Given the description of an element on the screen output the (x, y) to click on. 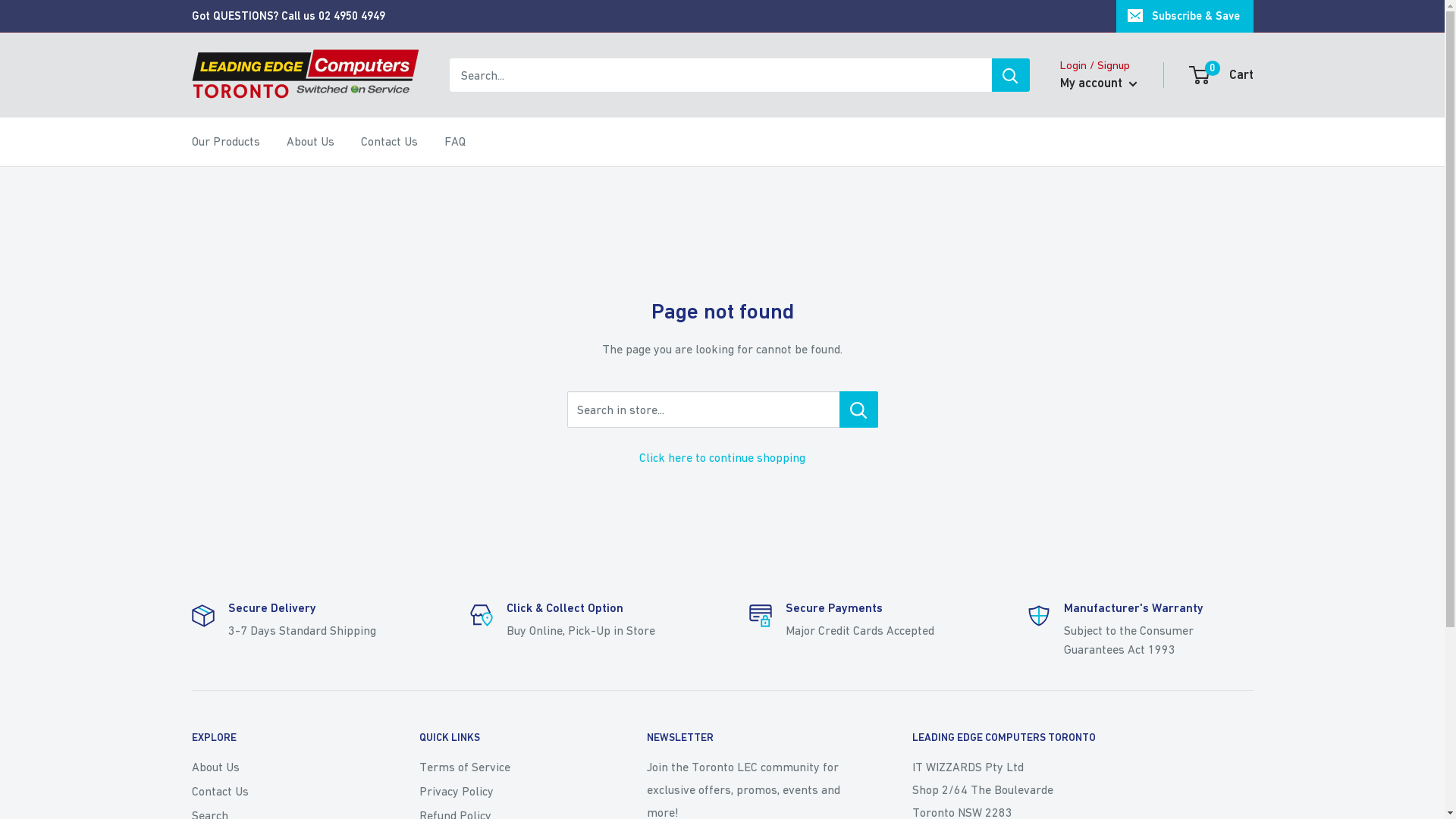
FAQ Element type: text (454, 141)
Contact Us Element type: text (388, 141)
About Us Element type: text (278, 766)
0
Cart Element type: text (1221, 74)
QUICK LINKS Element type: text (505, 737)
My account Element type: text (1098, 83)
Our Products Element type: text (225, 141)
About Us Element type: text (310, 141)
Terms of Service Element type: text (505, 766)
LEADING EDGE COMPUTERS TORONTO Element type: text (1081, 737)
Contact Us Element type: text (278, 790)
Subscribe & Save Element type: text (1184, 15)
Privacy Policy Element type: text (505, 790)
EXPLORE Element type: text (278, 737)
Click here to continue shopping Element type: text (722, 457)
